Given the description of an element on the screen output the (x, y) to click on. 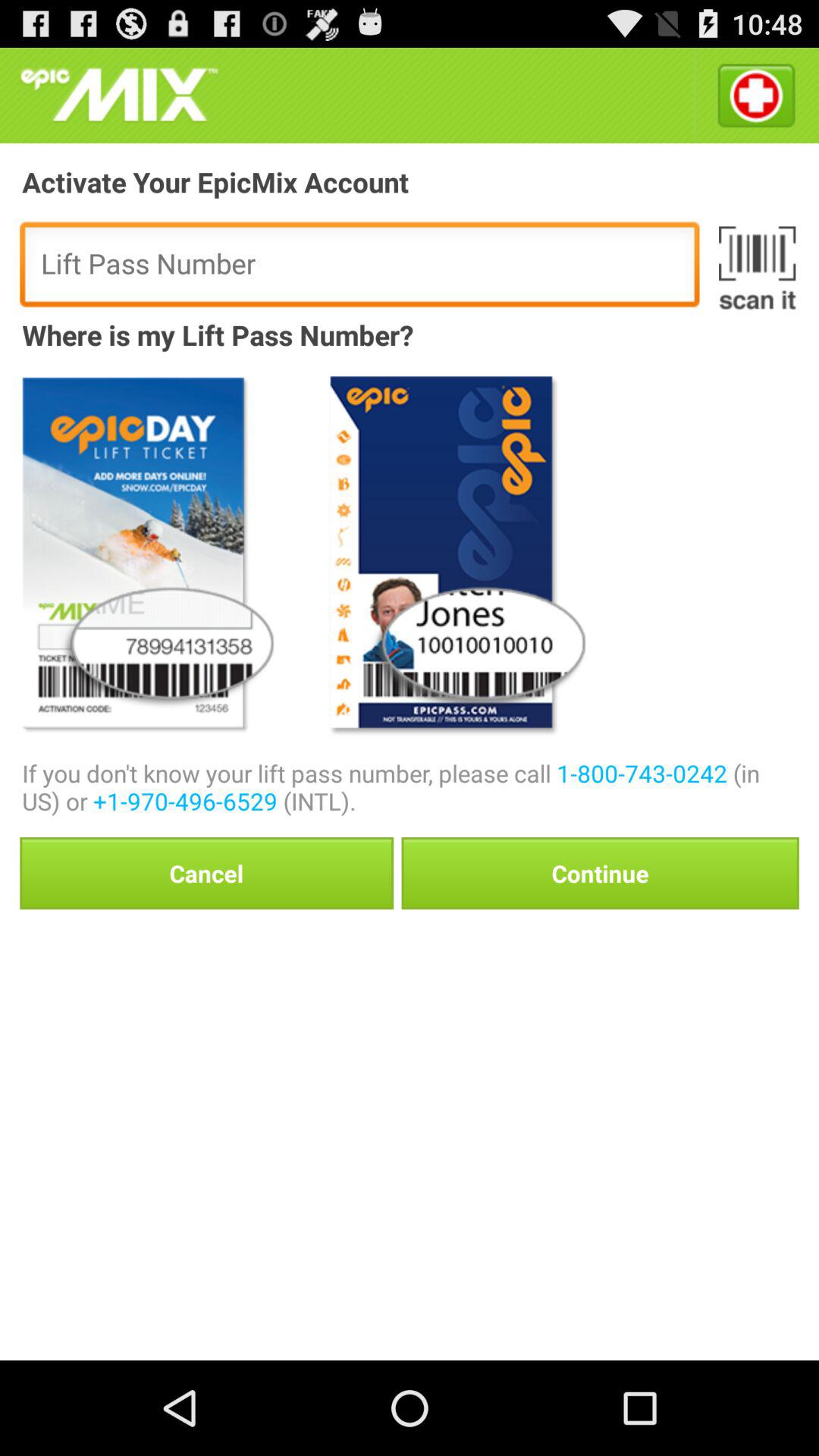
open button to the left of continue (206, 873)
